Given the description of an element on the screen output the (x, y) to click on. 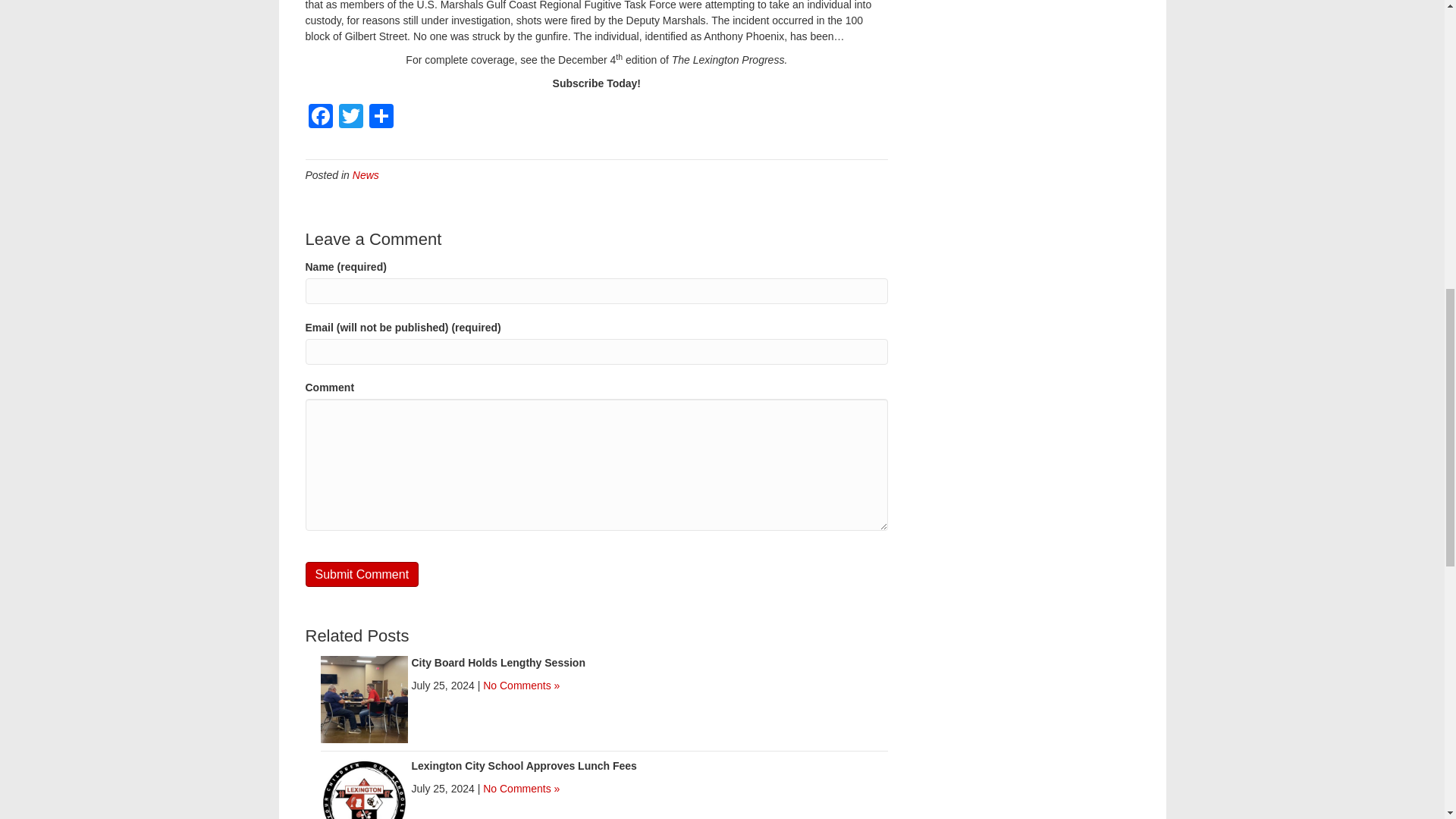
Lexington City School Approves Lunch Fees (363, 801)
News (365, 174)
Lexington City School Approves Lunch Fees (523, 766)
City Board Holds Lengthy Session (497, 662)
Facebook (319, 117)
Share (380, 117)
Twitter (349, 117)
Facebook (319, 117)
City Board Holds Lengthy Session (363, 698)
Submit Comment (361, 574)
Submit Comment (361, 574)
Twitter (349, 117)
